Given the description of an element on the screen output the (x, y) to click on. 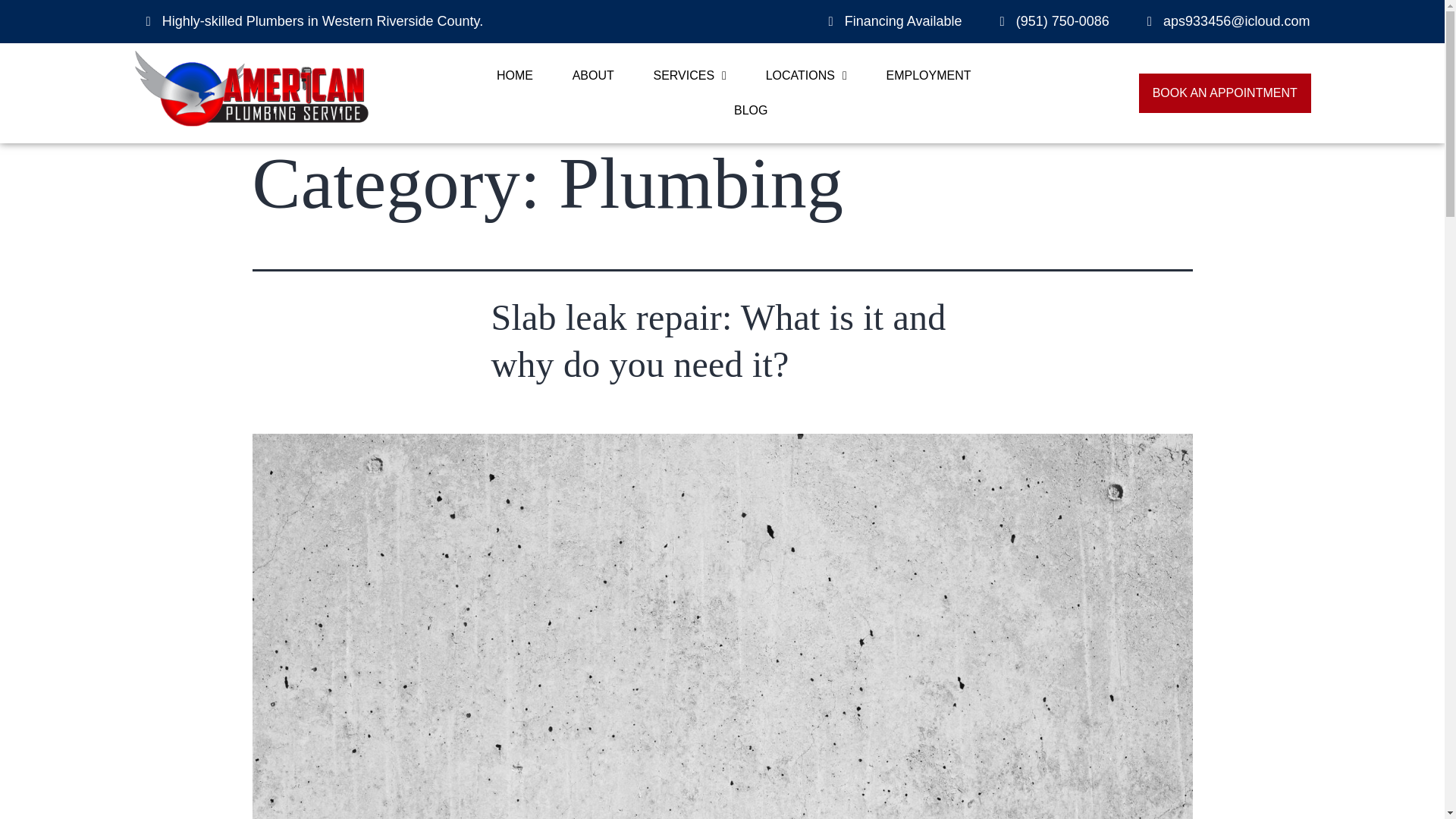
HOME (515, 75)
LOCATIONS (805, 75)
ABOUT (592, 75)
Financing Available (888, 21)
SERVICES (689, 75)
